Given the description of an element on the screen output the (x, y) to click on. 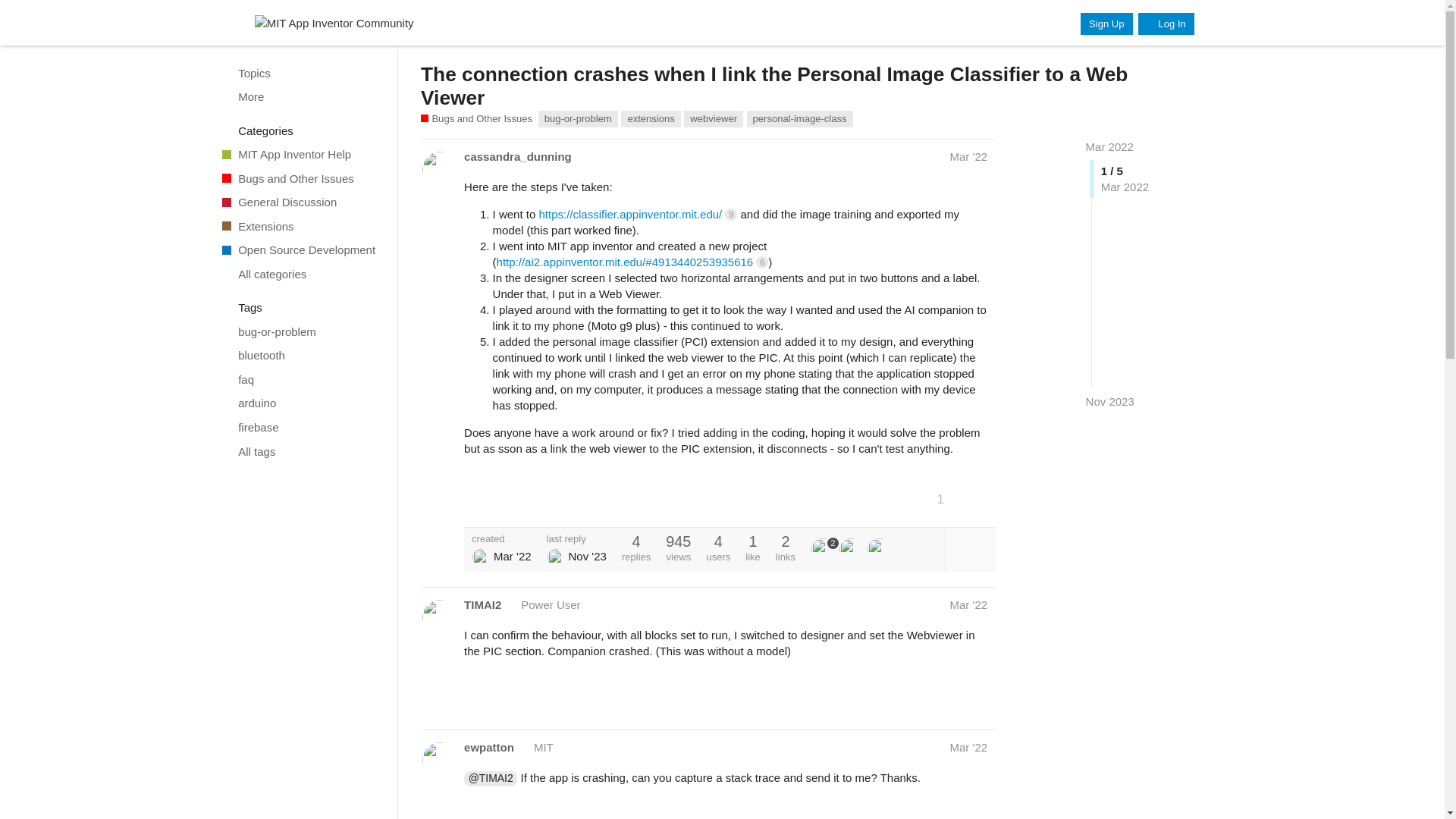
Toggle section (301, 130)
Tags (301, 307)
bluetooth (301, 355)
Nov 2023 (1110, 401)
Bugs and Other Issues (301, 178)
Sidebar (227, 22)
bug-or-problem (301, 331)
Topics (301, 72)
Categories (301, 130)
